Given the description of an element on the screen output the (x, y) to click on. 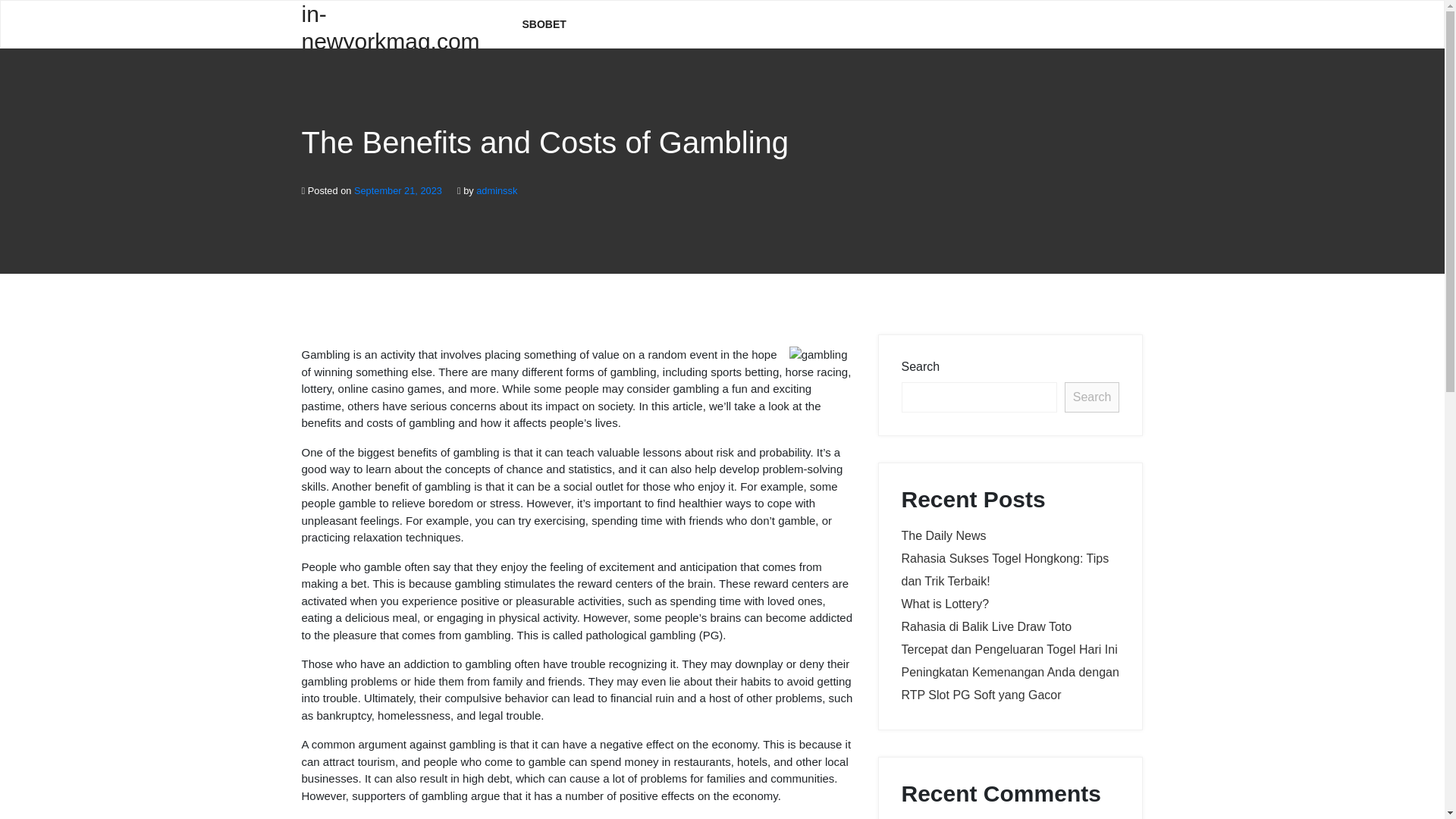
September 21, 2023 (397, 190)
adminssk (496, 190)
SBOBET (543, 23)
SBOBET (543, 23)
Rahasia Sukses Togel Hongkong: Tips dan Trik Terbaik! (1004, 570)
What is Lottery? (944, 603)
Search (1091, 397)
in-newyorkmag.com (400, 22)
The Daily News (943, 535)
